Given the description of an element on the screen output the (x, y) to click on. 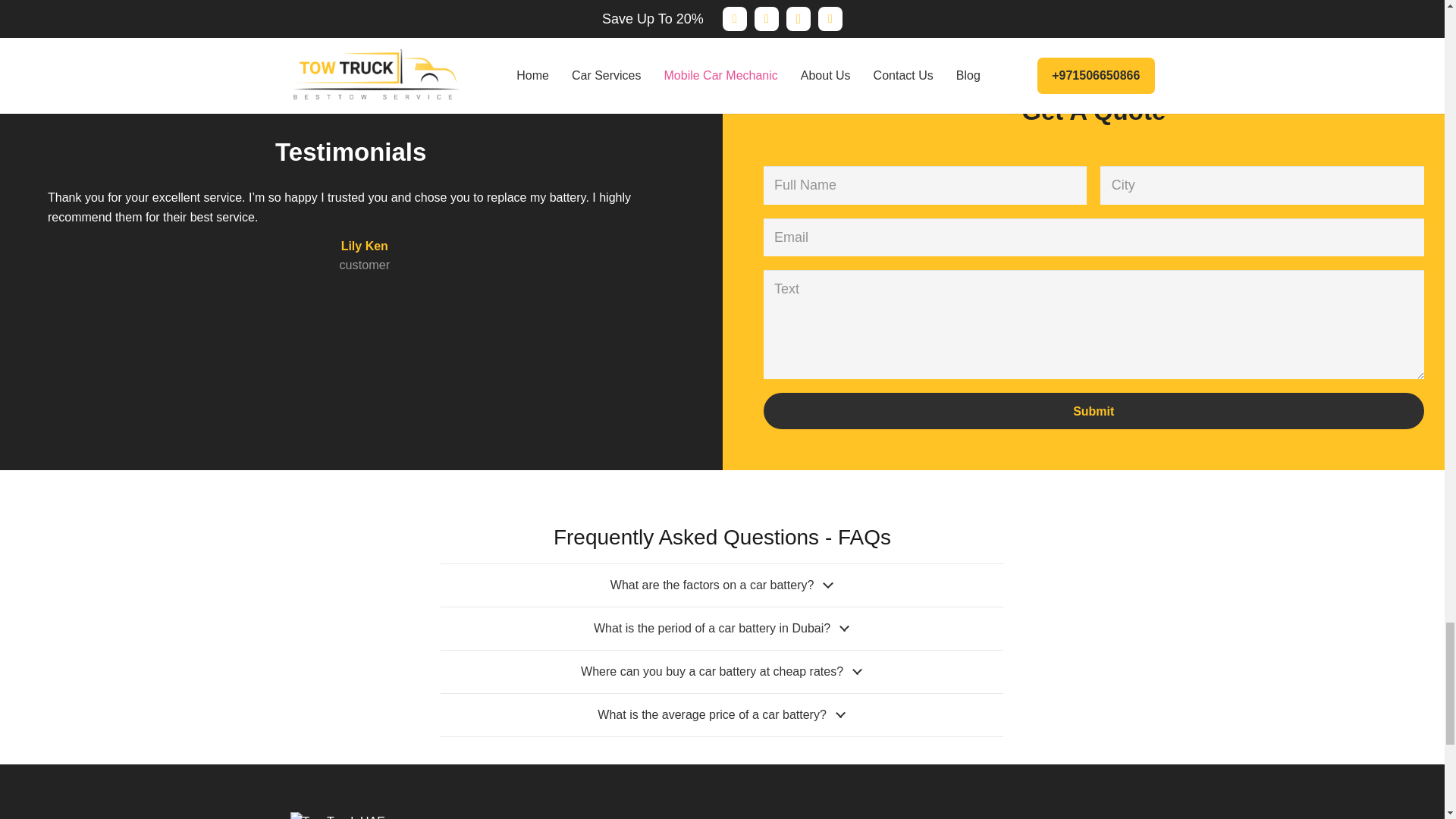
Where can you buy a car battery at cheap rates? (722, 671)
Submit (1092, 411)
What is the average price of a car battery? (722, 714)
What is the period of a car battery in Dubai? (722, 628)
What are the factors on a car battery? (722, 585)
